Given the description of an element on the screen output the (x, y) to click on. 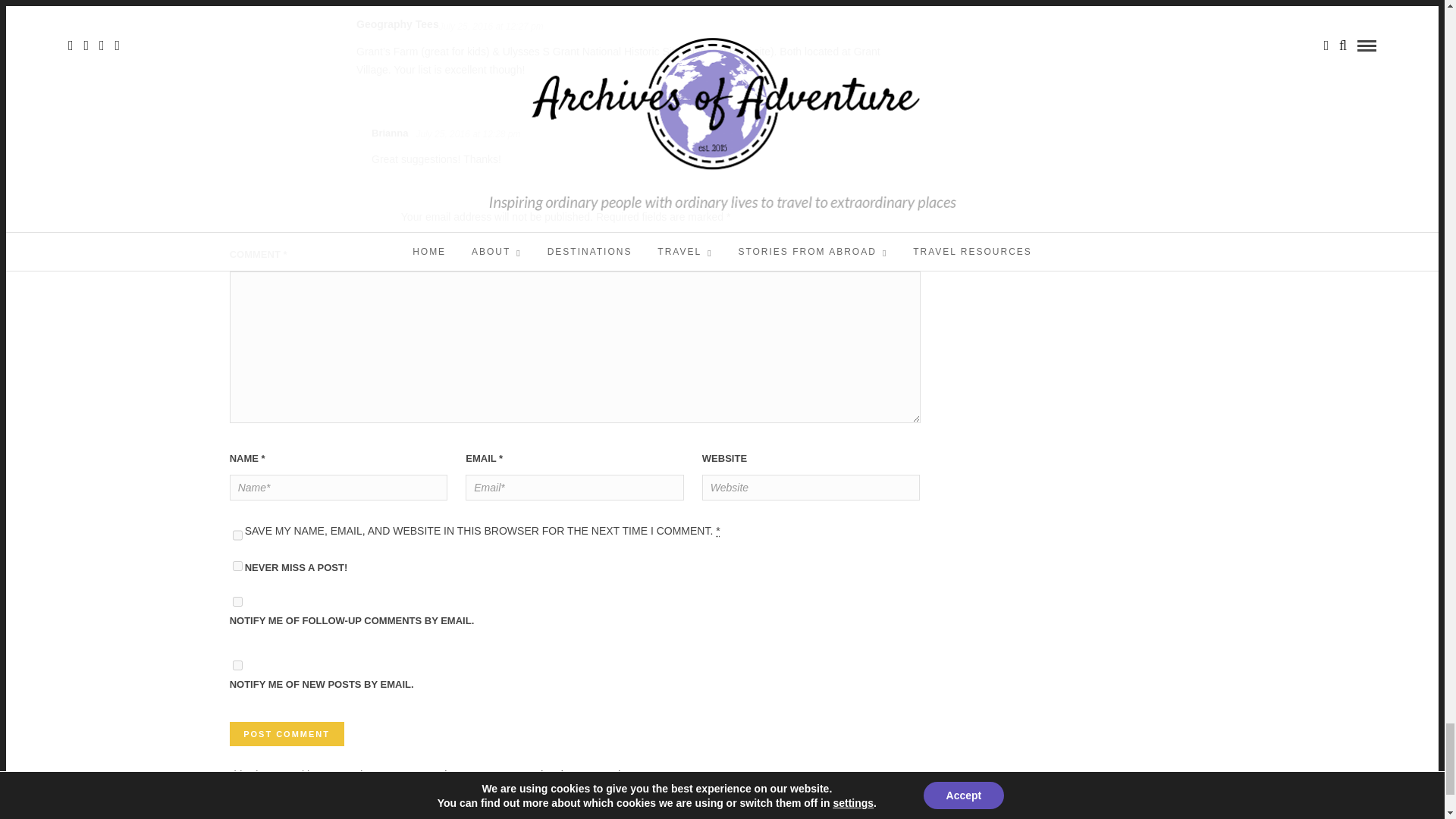
subscribe (237, 665)
1 (237, 565)
subscribe (237, 601)
Post Comment (286, 733)
